Given the description of an element on the screen output the (x, y) to click on. 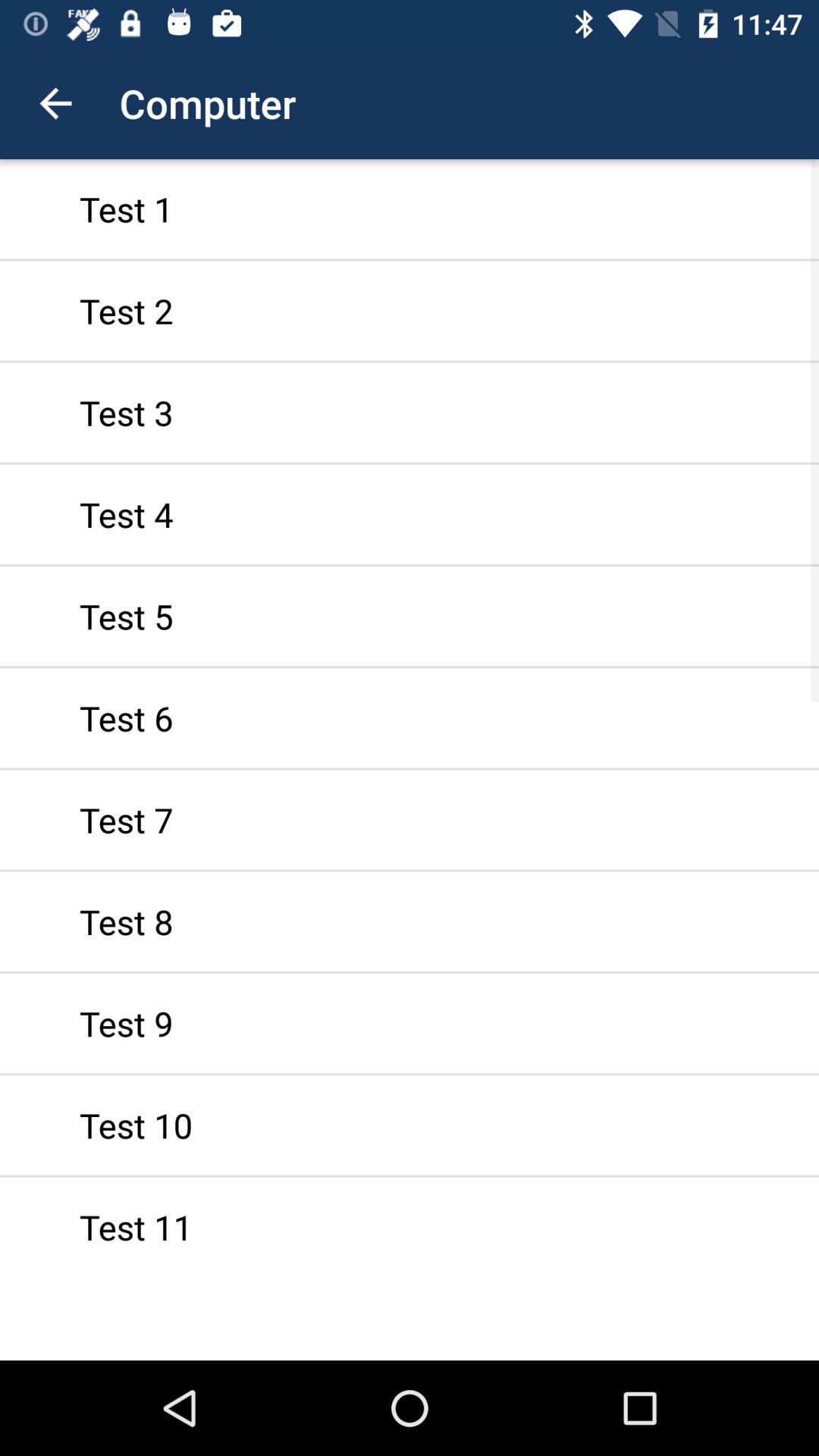
choose test 7 item (409, 819)
